Given the description of an element on the screen output the (x, y) to click on. 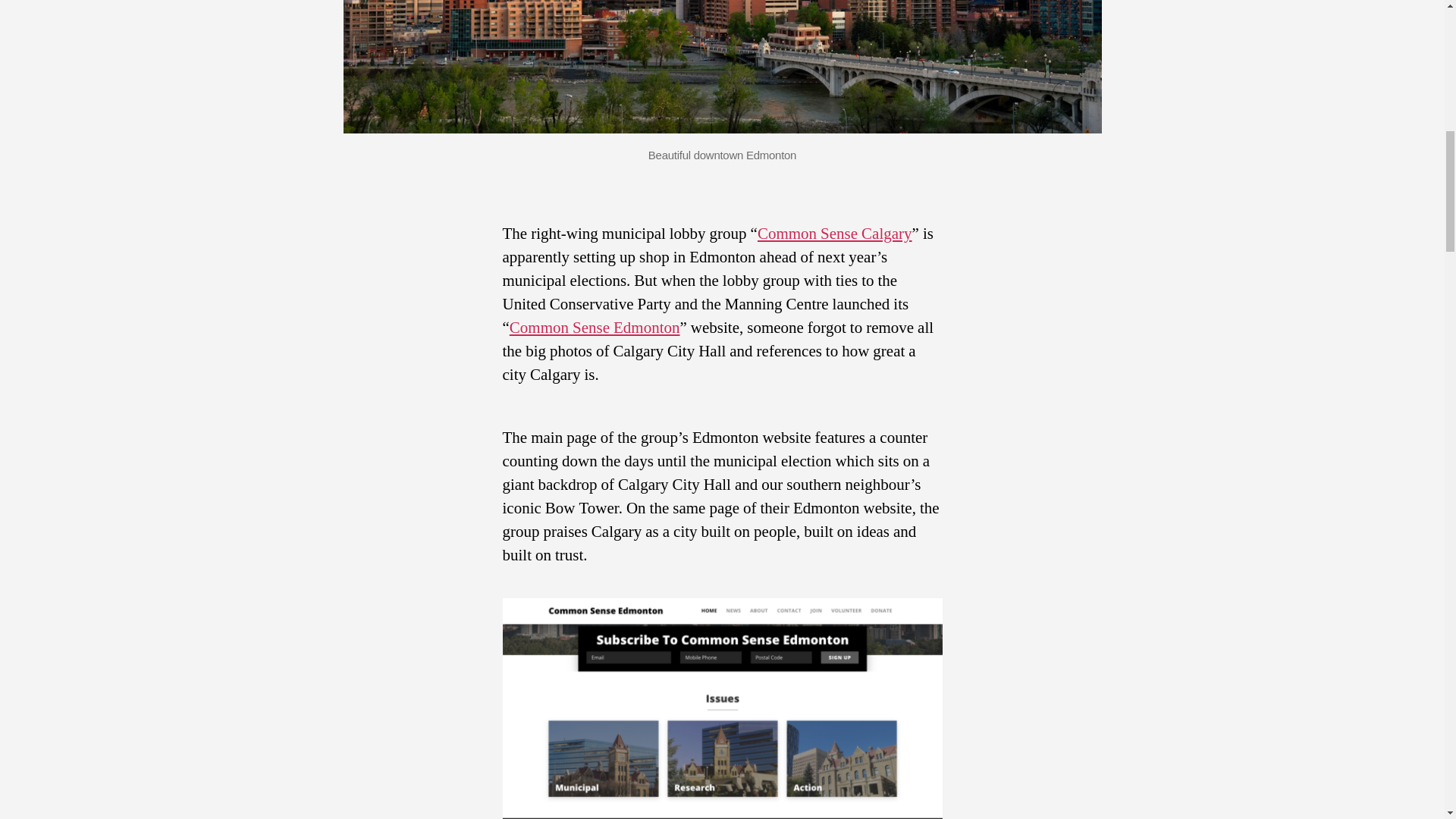
Common Sense Calgary (834, 233)
Common Sense Edmonton (594, 327)
